Given the description of an element on the screen output the (x, y) to click on. 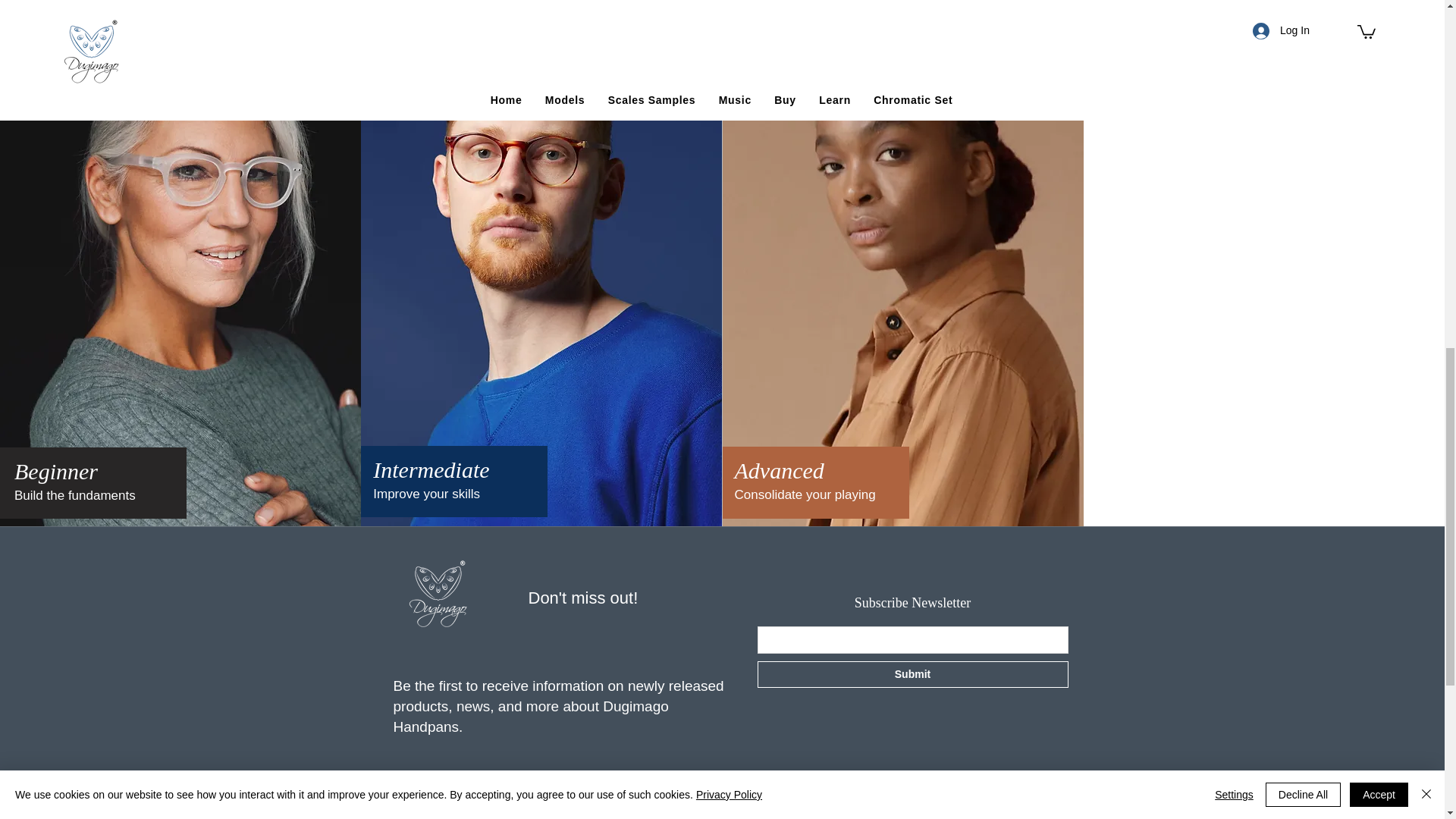
Re-tunings (699, 809)
Handpans (426, 809)
About (562, 809)
Submit (912, 673)
